Given the description of an element on the screen output the (x, y) to click on. 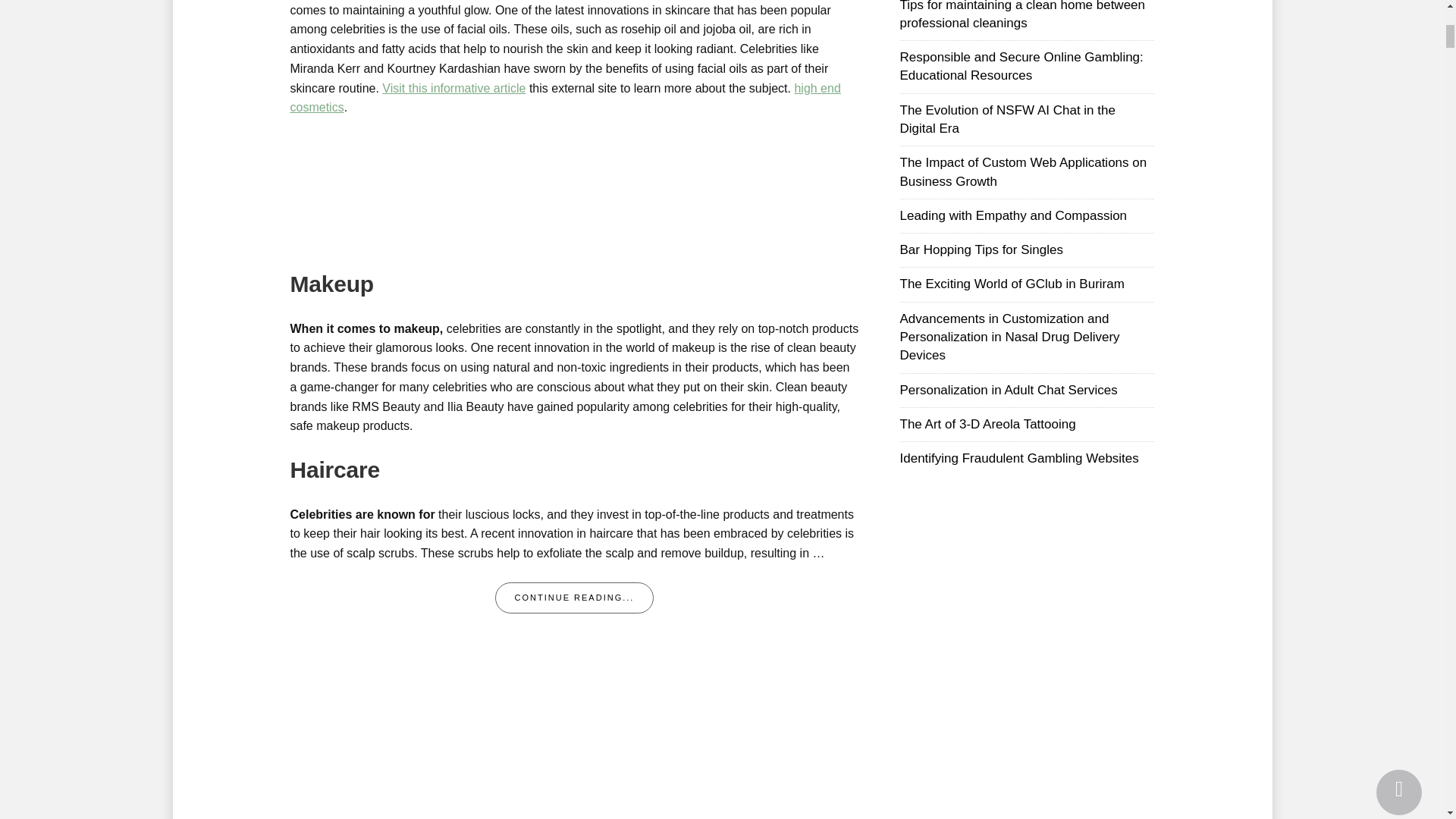
Visit this informative article (453, 88)
CONTINUE READING... (574, 597)
high end cosmetics (564, 97)
